Given the description of an element on the screen output the (x, y) to click on. 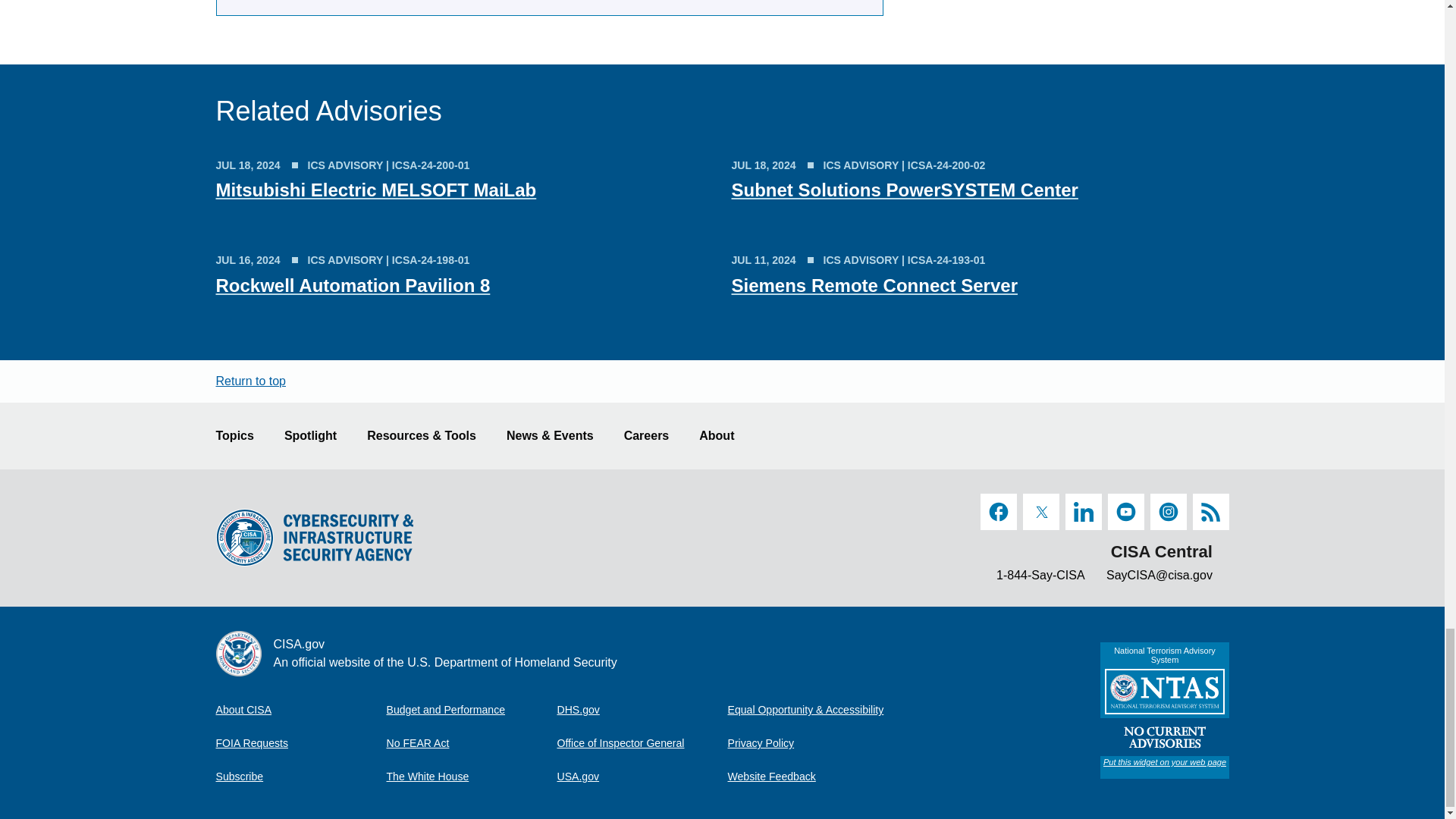
Subscribe to Email Updates (300, 776)
No FEAR Act Reporting (472, 743)
The White House (472, 776)
USA.gov (641, 776)
Office of Inspector General (641, 743)
Privacy Policy (813, 743)
FOIA Requests (300, 743)
Department of Homeland Security (641, 709)
Budget and Performance (472, 709)
About CISA (300, 709)
